Given the description of an element on the screen output the (x, y) to click on. 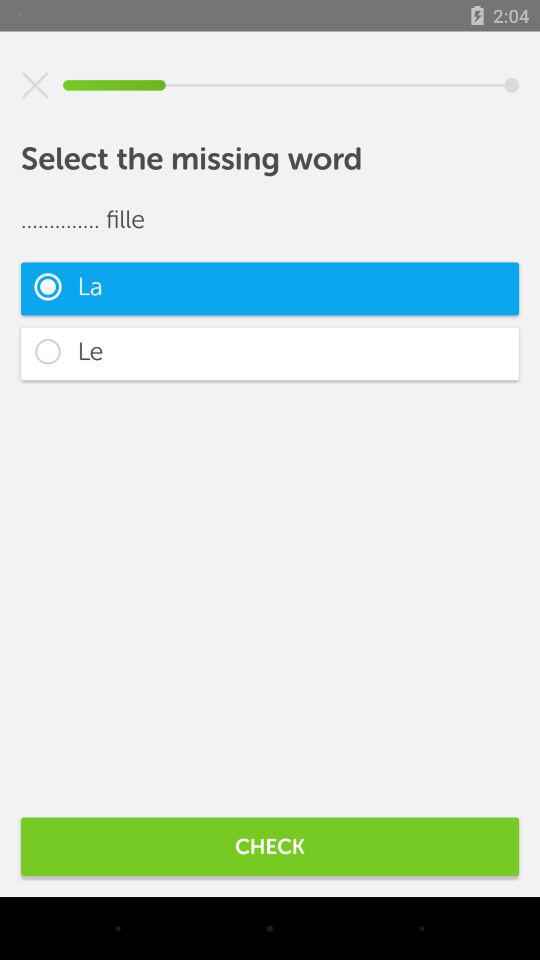
scroll to the le item (270, 353)
